Given the description of an element on the screen output the (x, y) to click on. 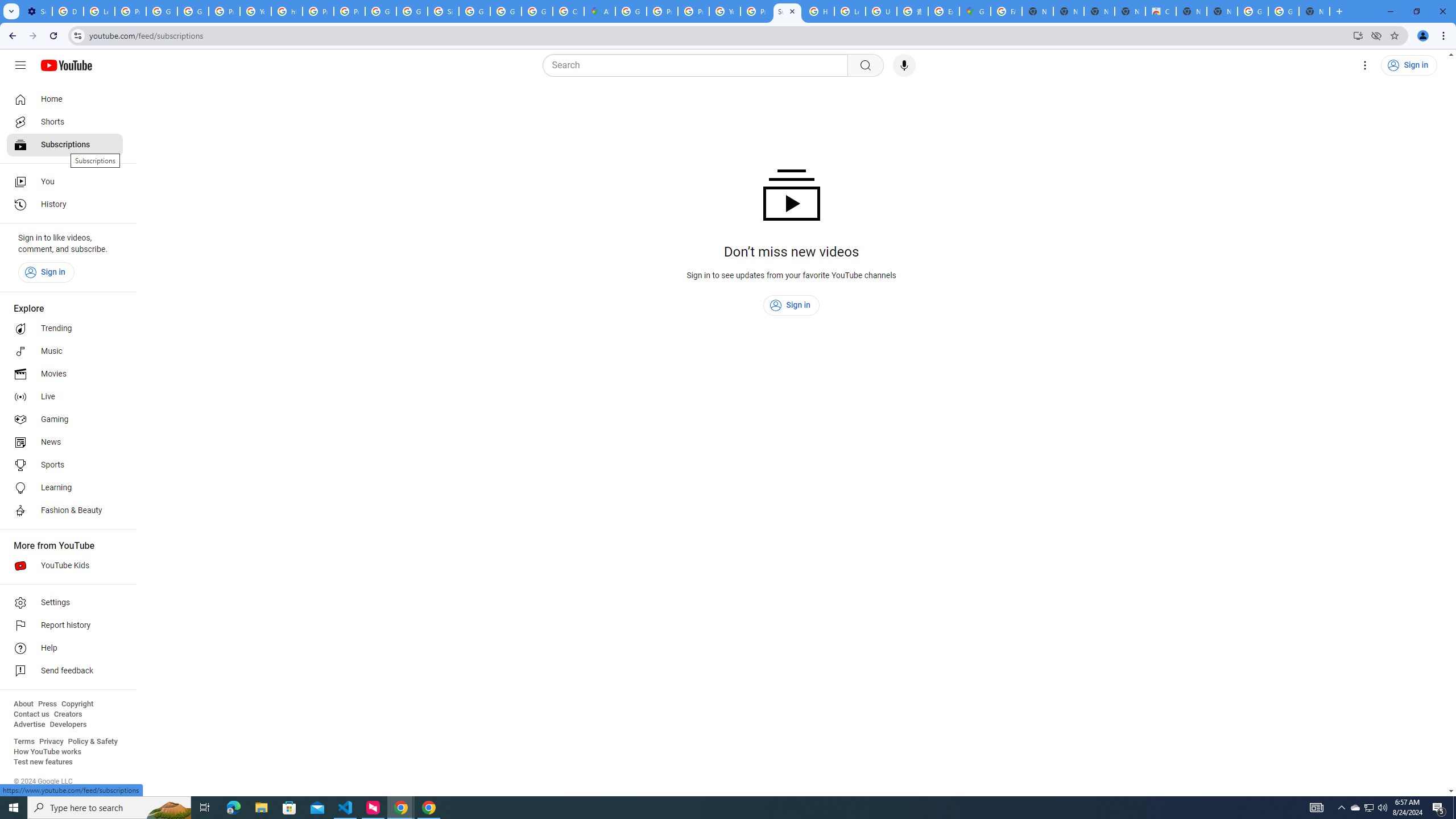
YouTube Home (66, 65)
Copyright (77, 703)
Delete photos & videos - Computer - Google Photos Help (67, 11)
Learn how to find your photos - Google Photos Help (98, 11)
Subscriptions - YouTube (787, 11)
Press (46, 703)
Explore new street-level details - Google Maps Help (943, 11)
